Given the description of an element on the screen output the (x, y) to click on. 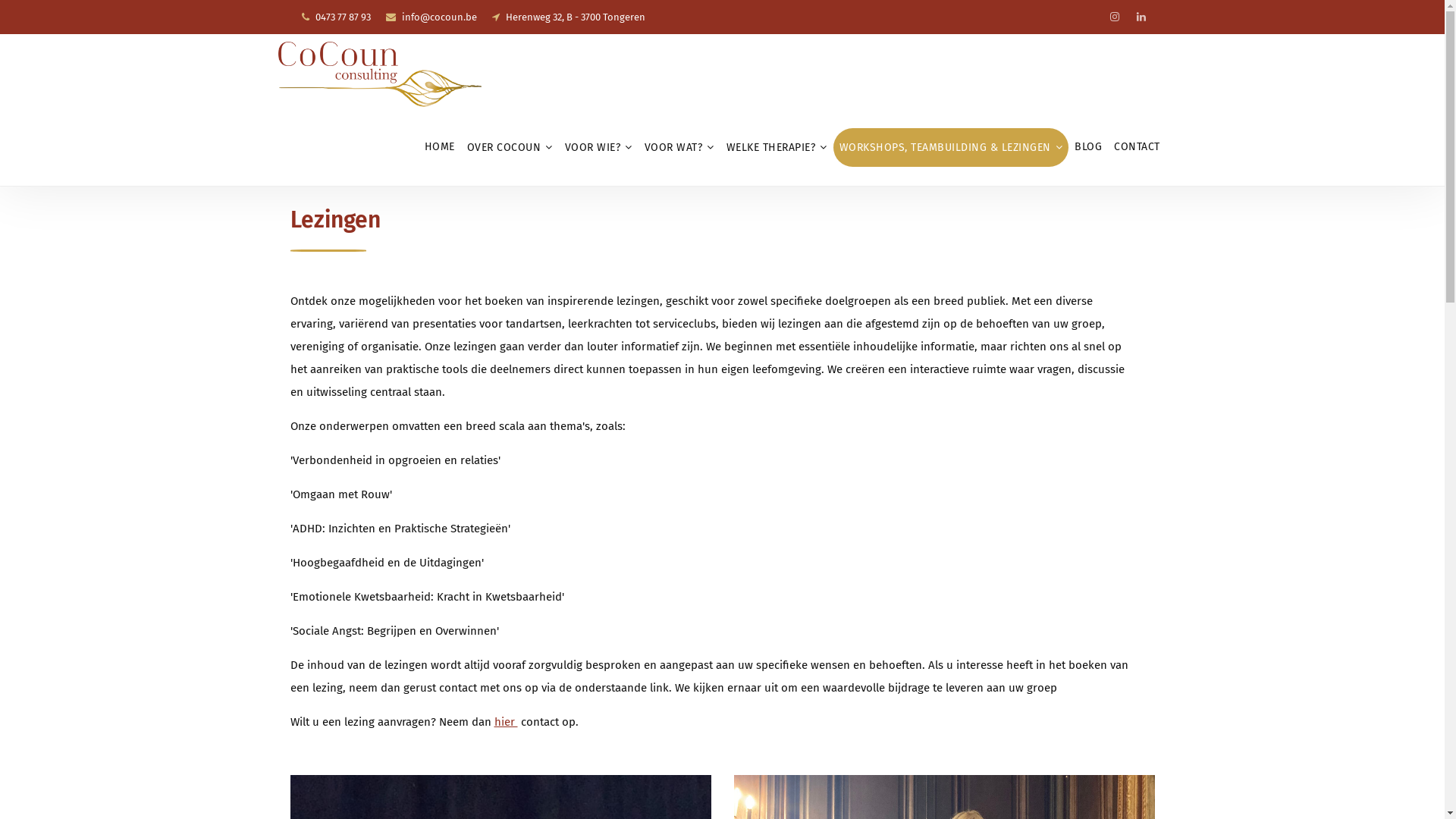
OVER COCOUN Element type: text (509, 147)
HOME Element type: text (439, 147)
WORKSHOPS, TEAMBUILDING & LEZINGEN Element type: text (950, 147)
WELKE THERAPIE? Element type: text (776, 147)
VOOR WAT? Element type: text (679, 147)
hier  Element type: text (505, 721)
CONTACT Element type: text (1136, 147)
BLOG Element type: text (1087, 147)
VOOR WIE? Element type: text (597, 147)
